Given the description of an element on the screen output the (x, y) to click on. 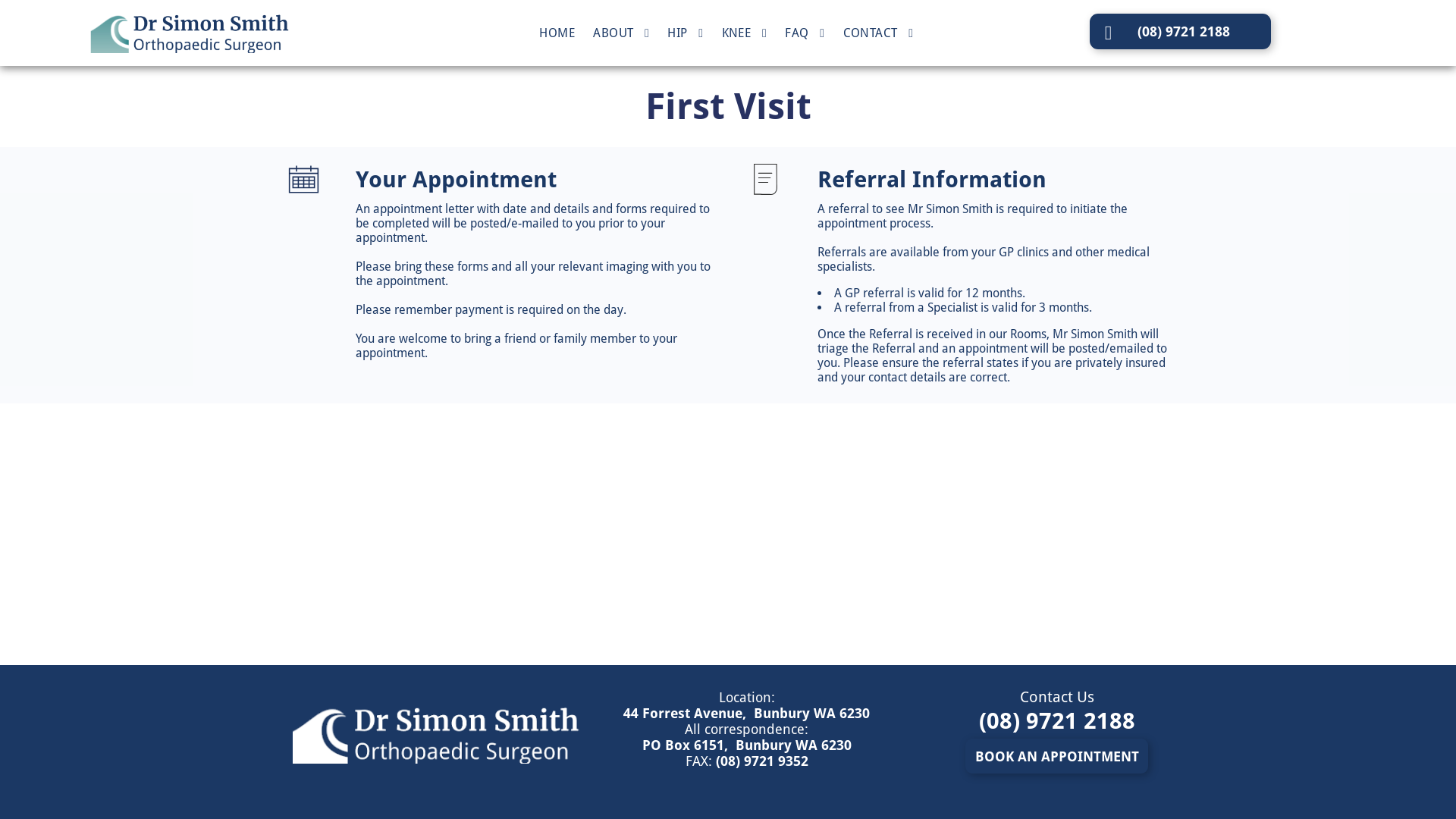
(08) 9721 2188 Element type: text (1179, 31)
BOOK AN APPOINTMENT Element type: text (1056, 755)
ABOUT Element type: text (620, 32)
FAQ Element type: text (804, 32)
HIP Element type: text (685, 32)
KNEE Element type: text (744, 32)
CONTACT Element type: text (878, 32)
HOME Element type: text (556, 32)
(08) 9721 2188 Element type: text (1057, 720)
Contact Us Element type: text (1056, 696)
